Given the description of an element on the screen output the (x, y) to click on. 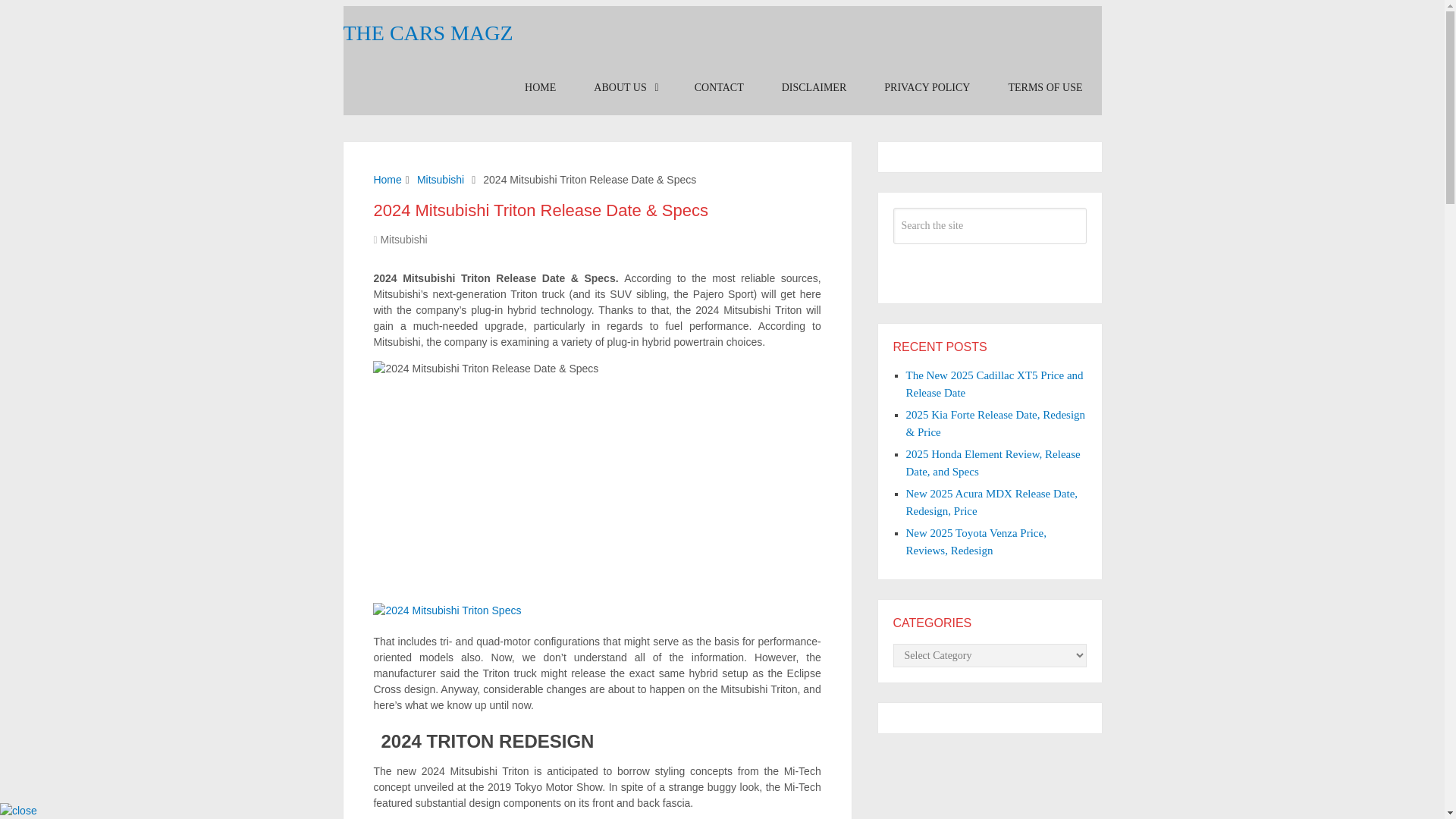
THE CARS MAGZ (427, 33)
TERMS OF USE (1044, 87)
Mitsubishi (440, 179)
Mitsubishi (403, 239)
New 2025 Acura MDX Release Date, Redesign, Price (991, 501)
CONTACT (718, 87)
close button (18, 811)
PRIVACY POLICY (926, 87)
2025 Honda Element Review, Release Date, and Specs (992, 462)
View all posts in Mitsubishi (403, 239)
